Given the description of an element on the screen output the (x, y) to click on. 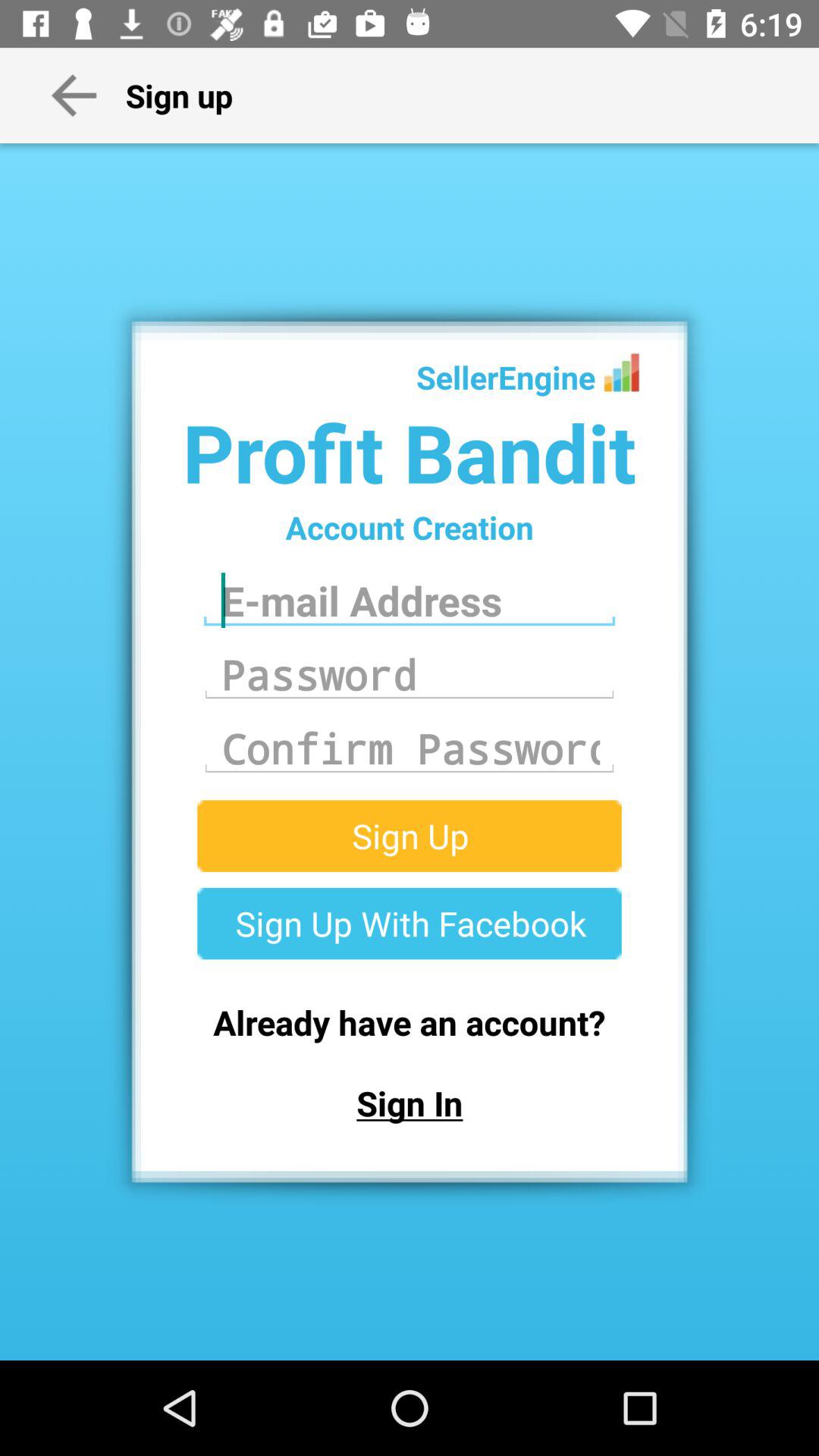
flip until sign in item (409, 1103)
